Given the description of an element on the screen output the (x, y) to click on. 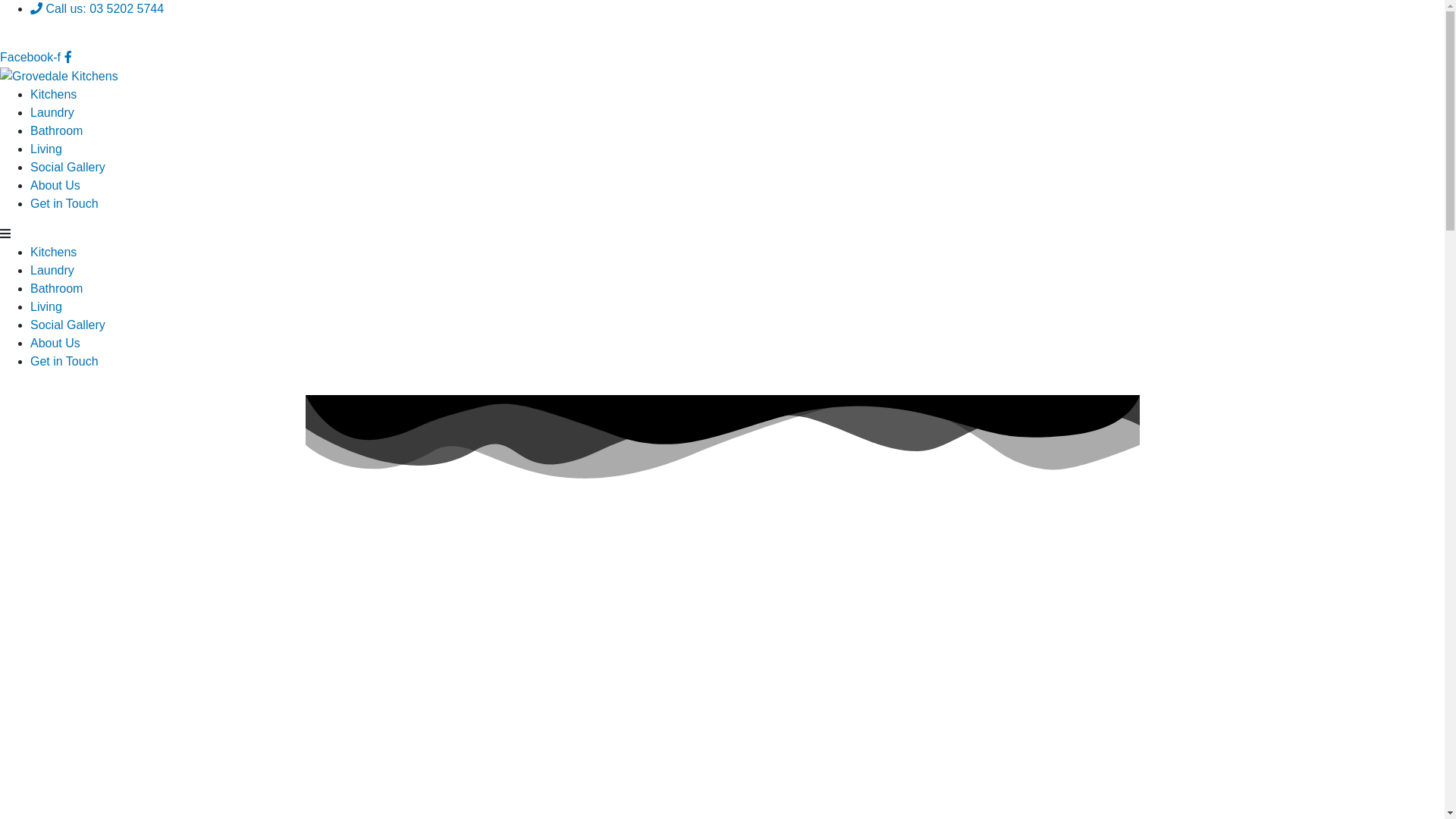
Bathroom Element type: text (56, 288)
Social Gallery Element type: text (67, 324)
Bathroom Element type: text (56, 130)
Call us: 03 5202 5744 Element type: text (96, 8)
Social Gallery Element type: text (67, 166)
Living Element type: text (46, 306)
Get in Touch Element type: text (64, 360)
About Us Element type: text (55, 342)
Kitchens Element type: text (53, 251)
Laundry Element type: text (52, 269)
About Us Element type: text (55, 184)
Laundry Element type: text (52, 112)
Get in Touch Element type: text (64, 203)
Facebook-f Element type: text (36, 56)
Living Element type: text (46, 148)
Kitchens Element type: text (53, 93)
